Given the description of an element on the screen output the (x, y) to click on. 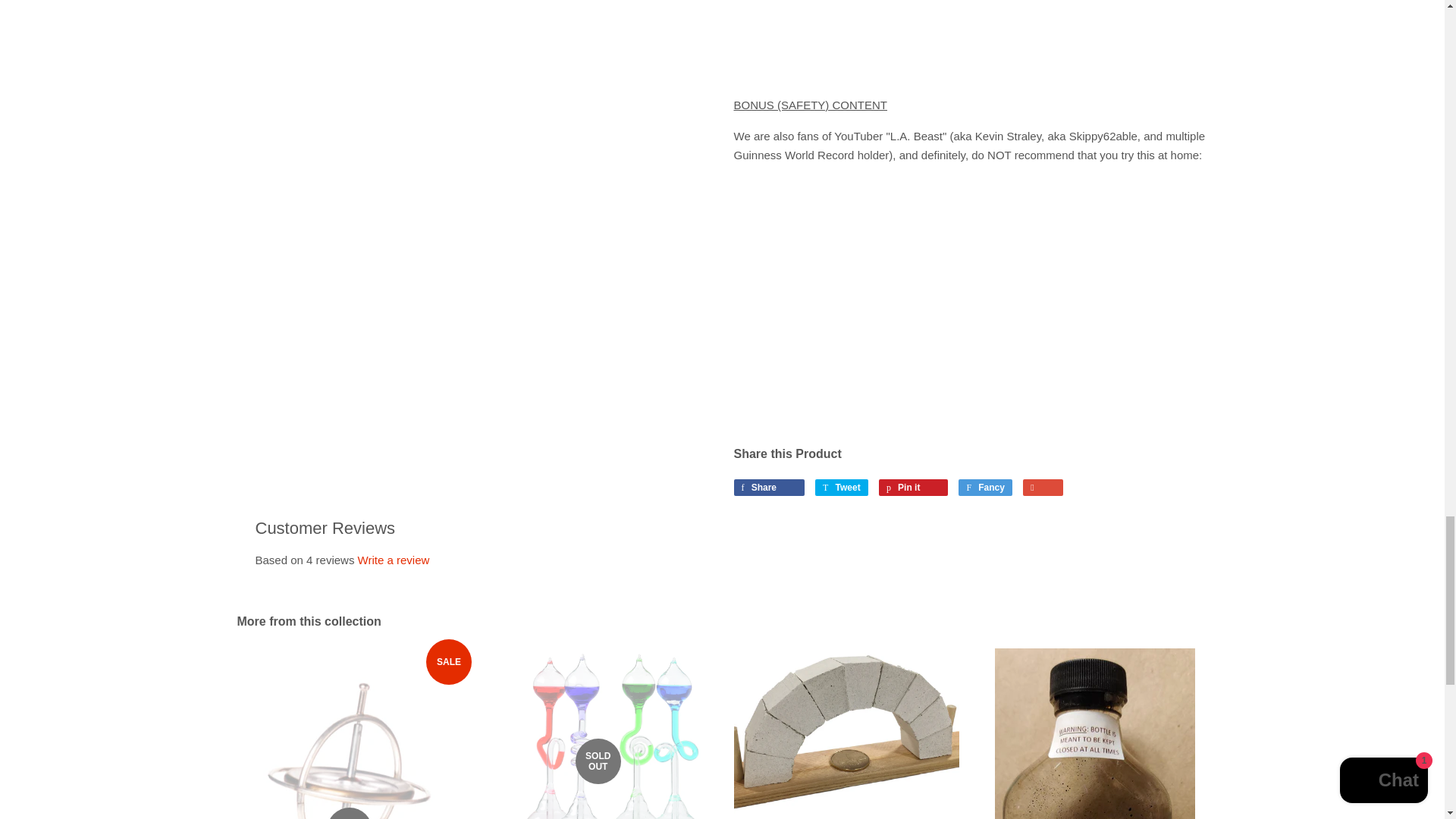
Share on Facebook (769, 487)
Pin on Pinterest (913, 487)
Tweet on Twitter (841, 487)
Add to Fancy (984, 487)
